Given the description of an element on the screen output the (x, y) to click on. 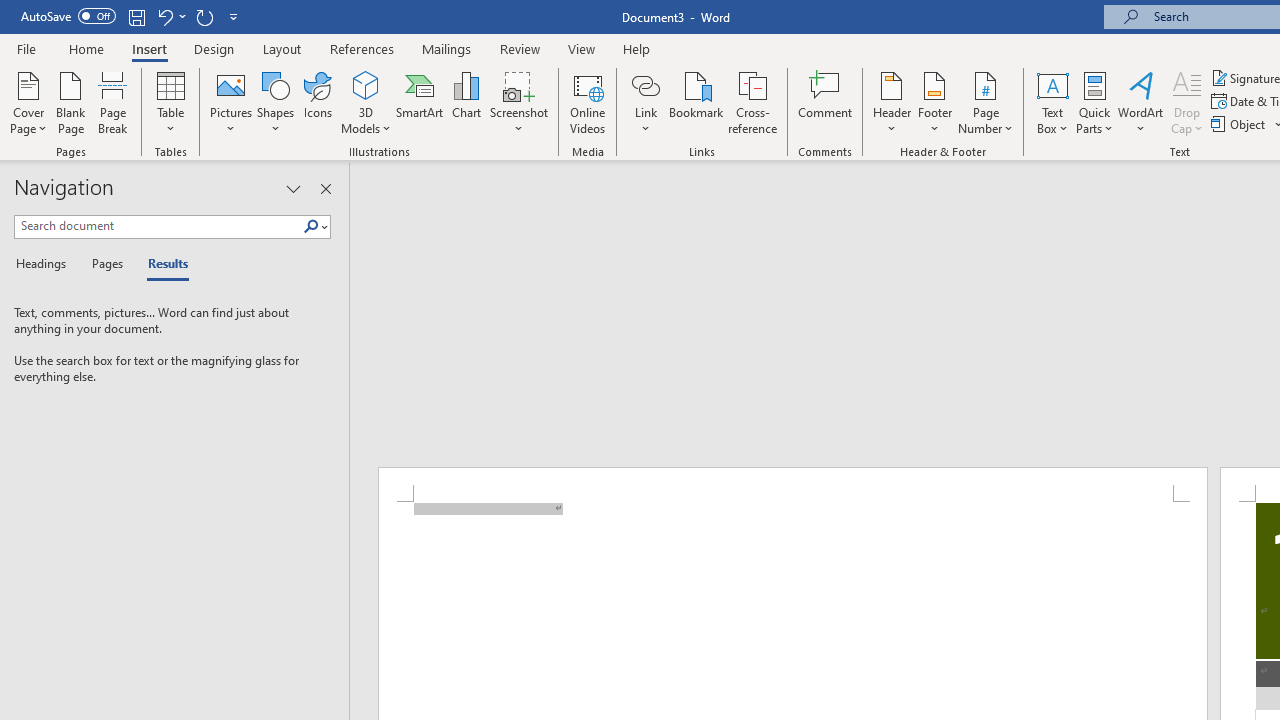
Cover Page (28, 102)
Shapes (275, 102)
Footer (934, 102)
Online Videos... (588, 102)
Object... (1240, 124)
Cross-reference... (752, 102)
SmartArt... (419, 102)
Text Box (1052, 102)
